Given the description of an element on the screen output the (x, y) to click on. 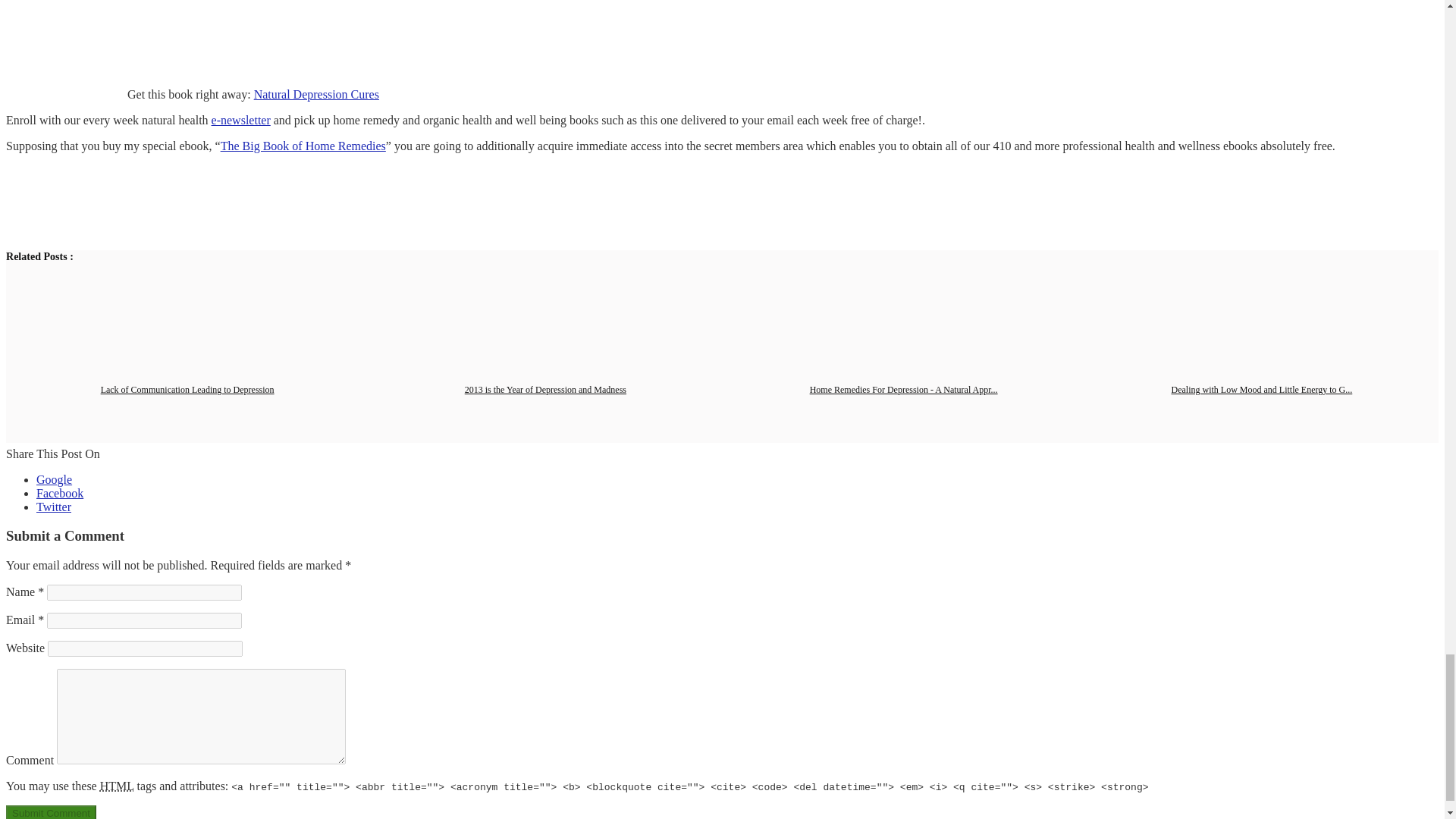
HyperText Markup Language (116, 785)
The Big Book of Home Remedies (303, 145)
Natural Depression Cures (315, 93)
Subscribe to Newsletter (240, 119)
Lack of Communication Leading to Depression (187, 389)
e-newsletter (240, 119)
2013 is the Year of Depression and Madness (545, 389)
